Given the description of an element on the screen output the (x, y) to click on. 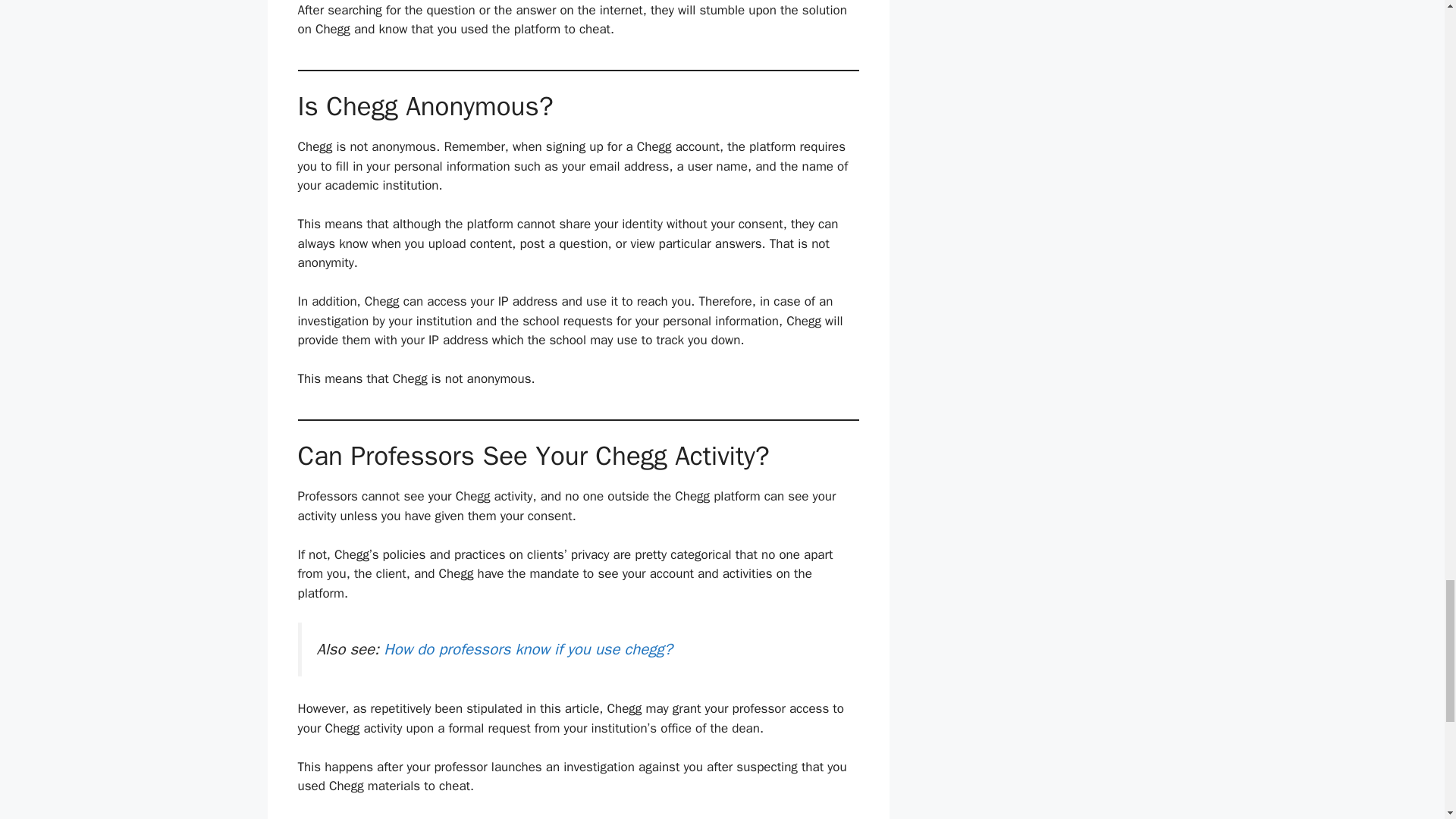
How do professors know if you use chegg? (527, 649)
